Given the description of an element on the screen output the (x, y) to click on. 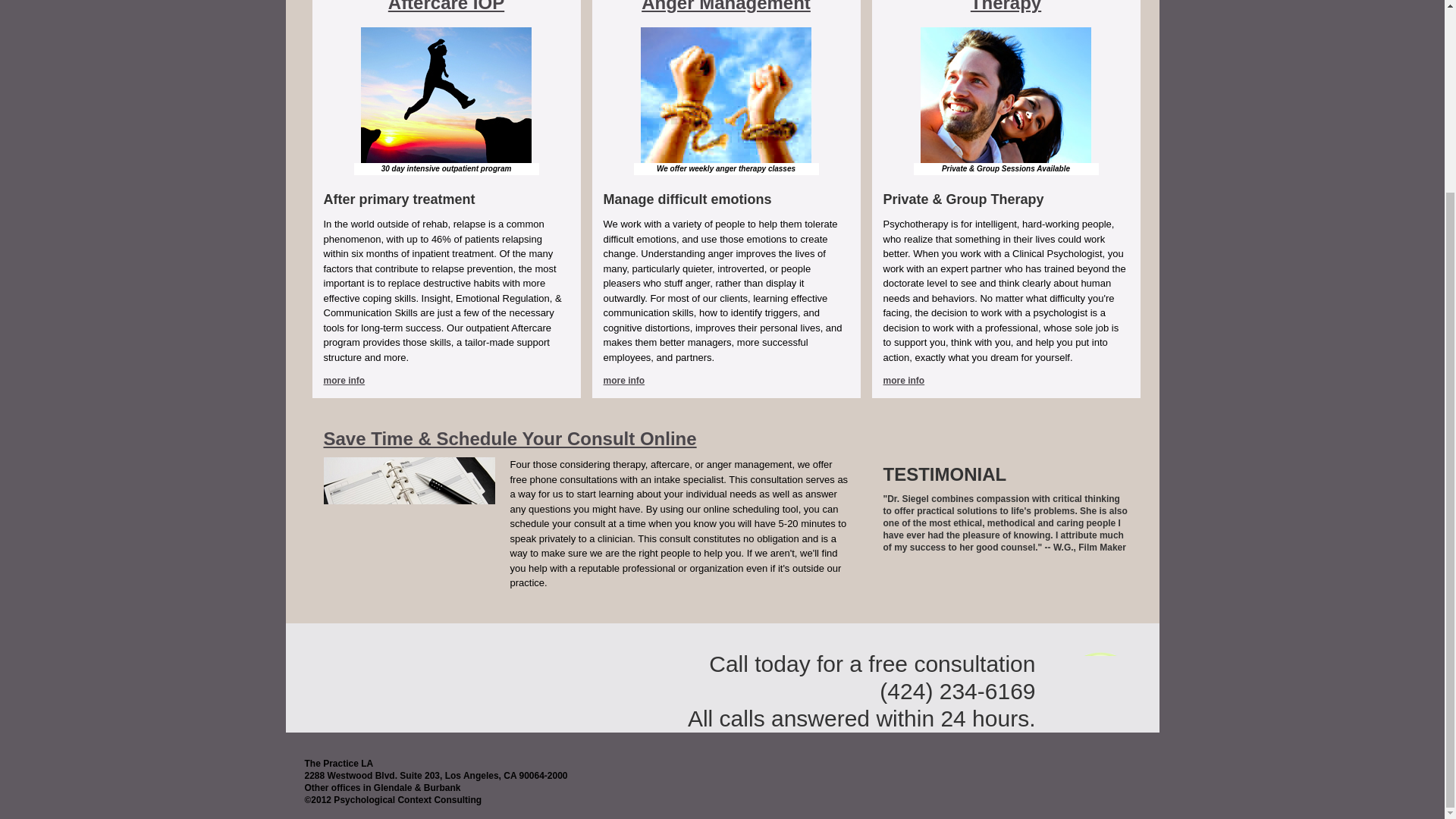
more info (344, 380)
Therapy (1006, 6)
more info (624, 380)
Anger Management (726, 6)
Aftercare IOP (445, 6)
more info (903, 380)
